Given the description of an element on the screen output the (x, y) to click on. 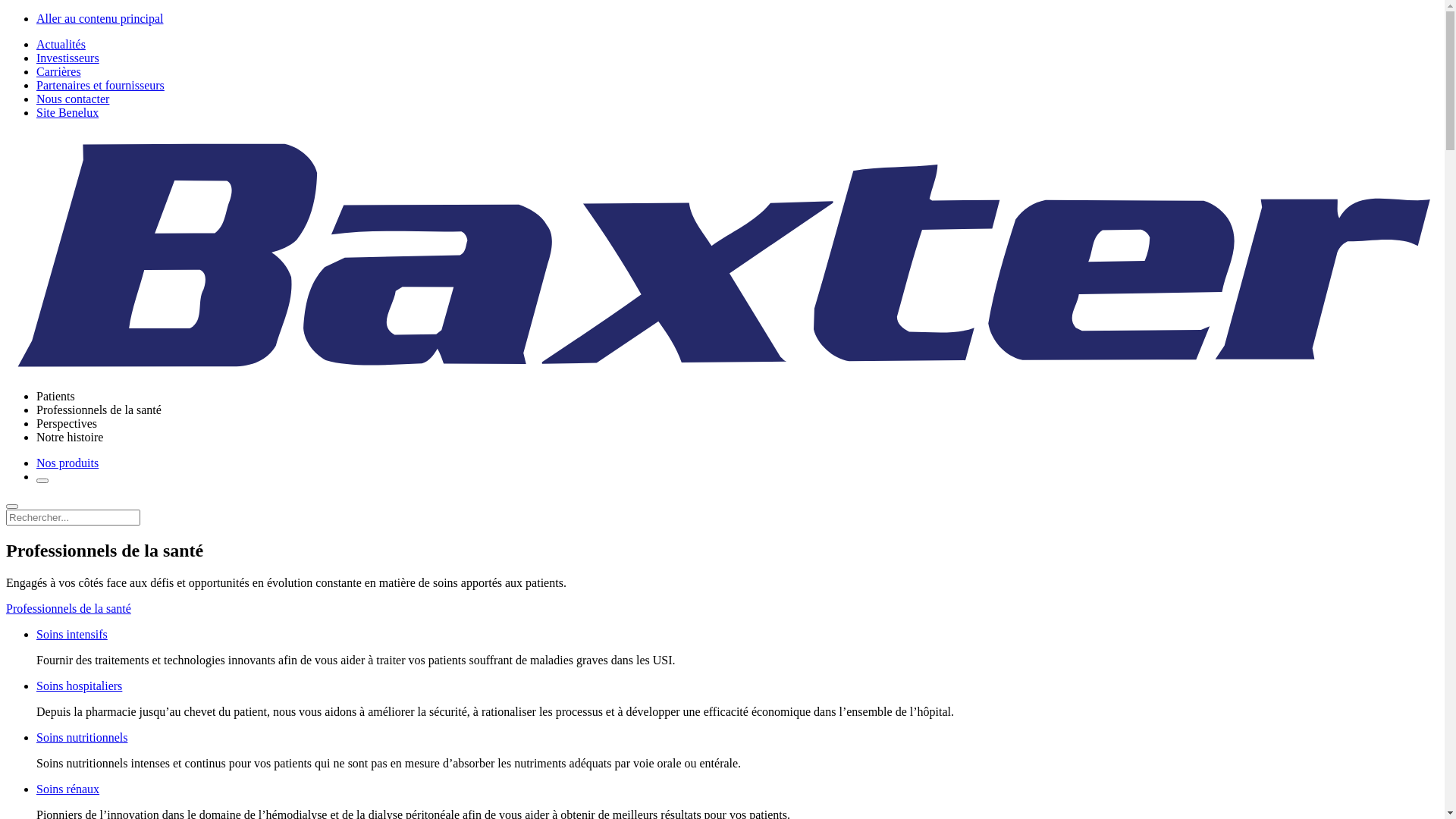
Soins hospitaliers Element type: text (79, 685)
Nous contacter Element type: text (72, 98)
Soins nutritionnels Element type: text (81, 737)
Accueil Element type: hover (722, 370)
Aller au contenu principal Element type: text (99, 18)
Notre histoire Element type: text (69, 436)
Rechercher Element type: text (42, 480)
Nos produits Element type: text (67, 462)
Soins intensifs Element type: text (71, 633)
Investisseurs Element type: text (67, 57)
Partenaires et fournisseurs Element type: text (100, 84)
Perspectives Element type: text (66, 423)
Patients Element type: text (55, 395)
Site Benelux Element type: text (67, 112)
